Given the description of an element on the screen output the (x, y) to click on. 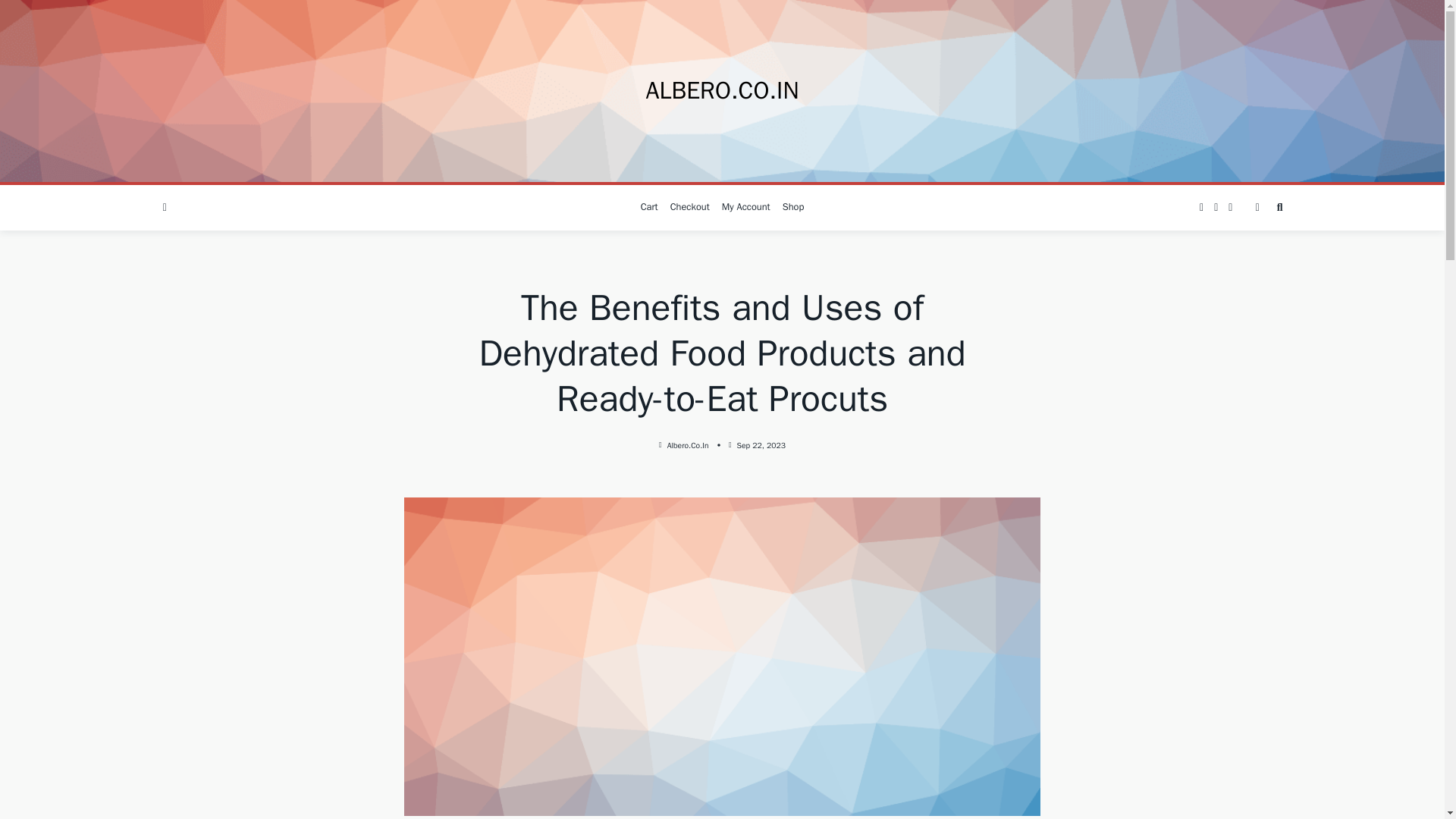
Checkout (689, 207)
Sep 22, 2023 (761, 445)
Cart (648, 207)
My Account (746, 207)
Albero.Co.In (687, 445)
Shop (793, 207)
ALBERO.CO.IN (721, 90)
